Given the description of an element on the screen output the (x, y) to click on. 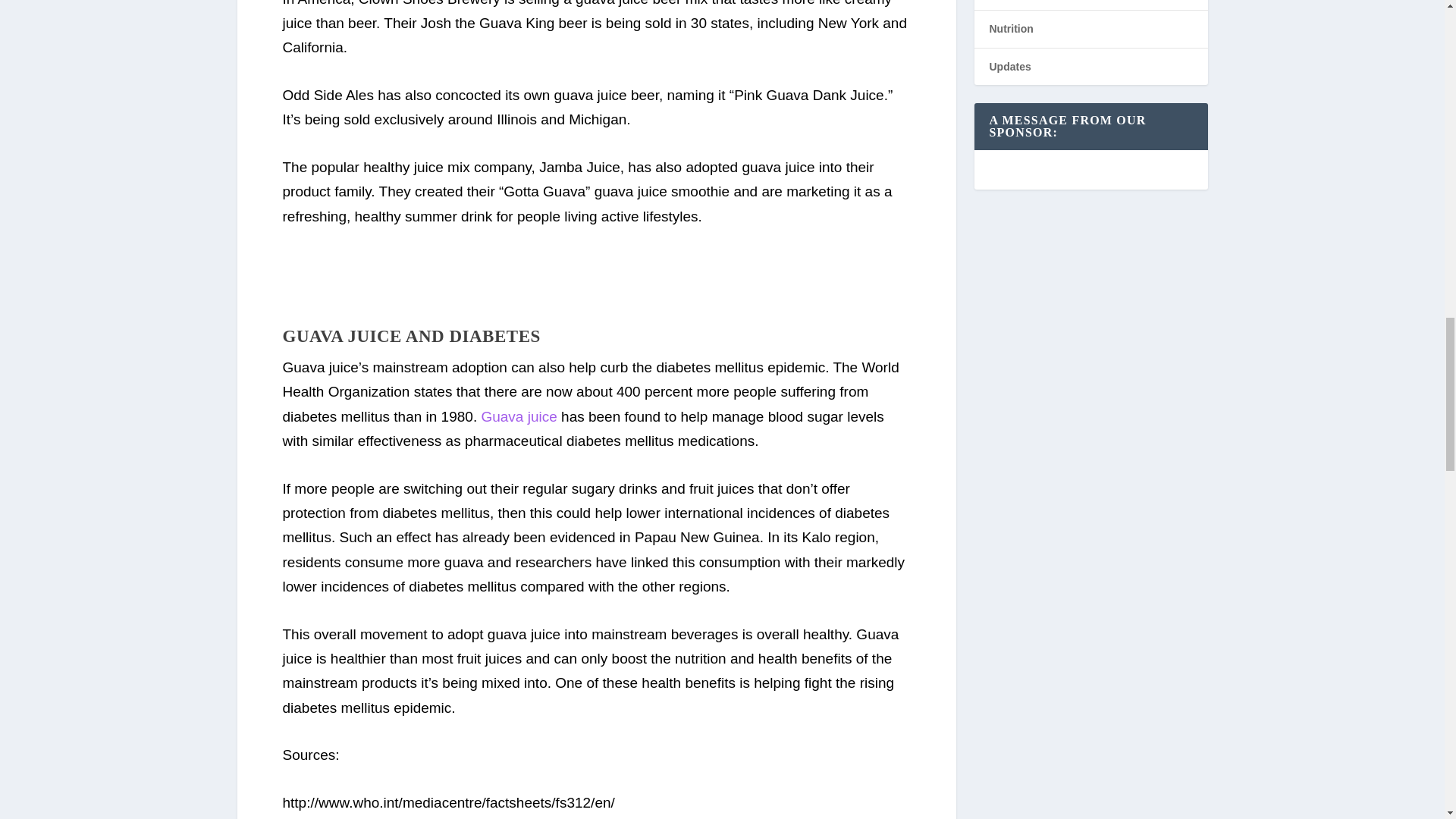
Guava juice (518, 416)
